Given the description of an element on the screen output the (x, y) to click on. 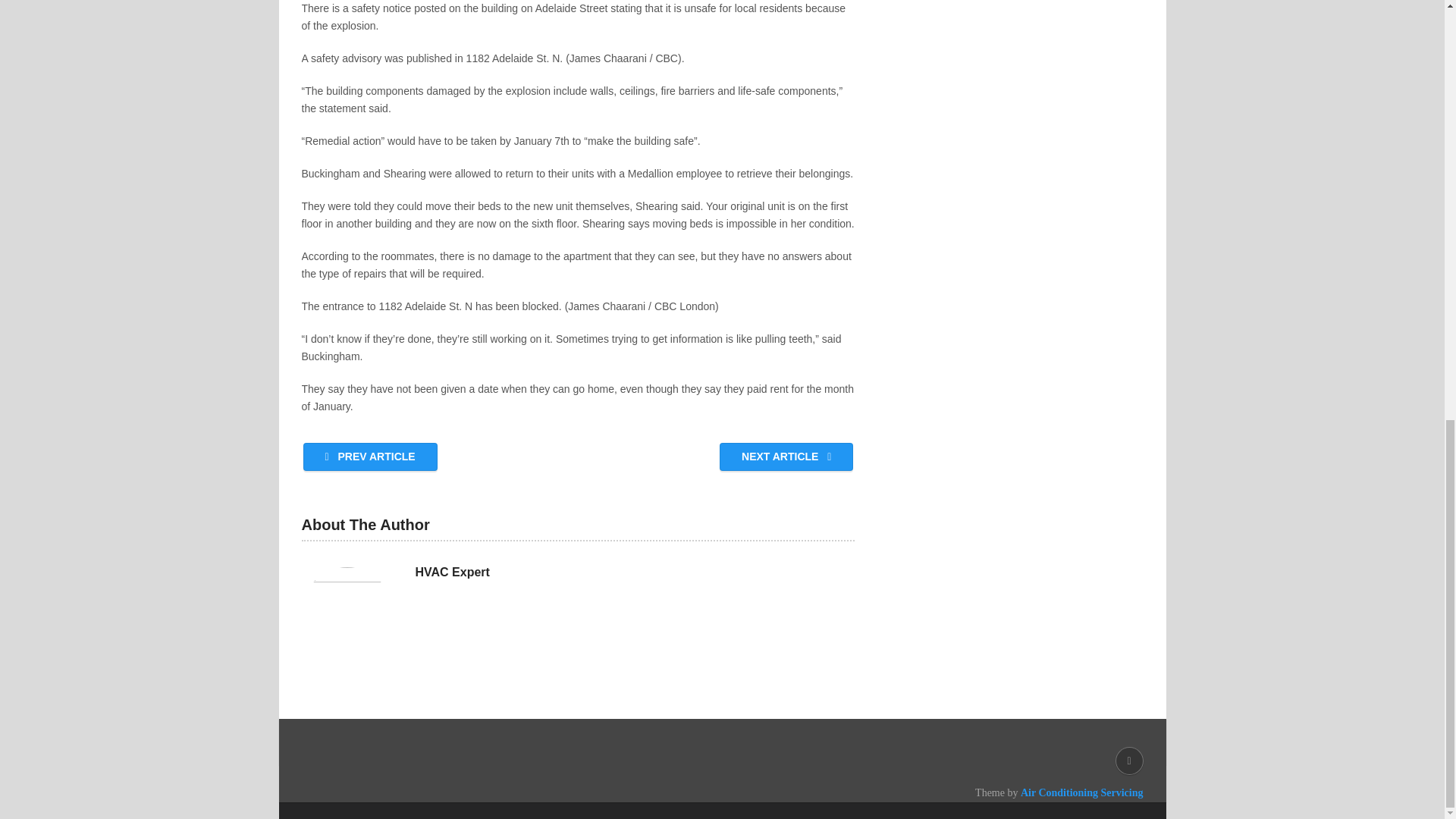
HVAC Expert (451, 572)
PREV ARTICLE (370, 456)
AIR CONDITIONING SERVICING (464, 792)
Air Conditioning Servicing (1081, 792)
 AIR CONDITIONING SERVICING DAILY (464, 792)
NEXT ARTICLE (786, 456)
